Given the description of an element on the screen output the (x, y) to click on. 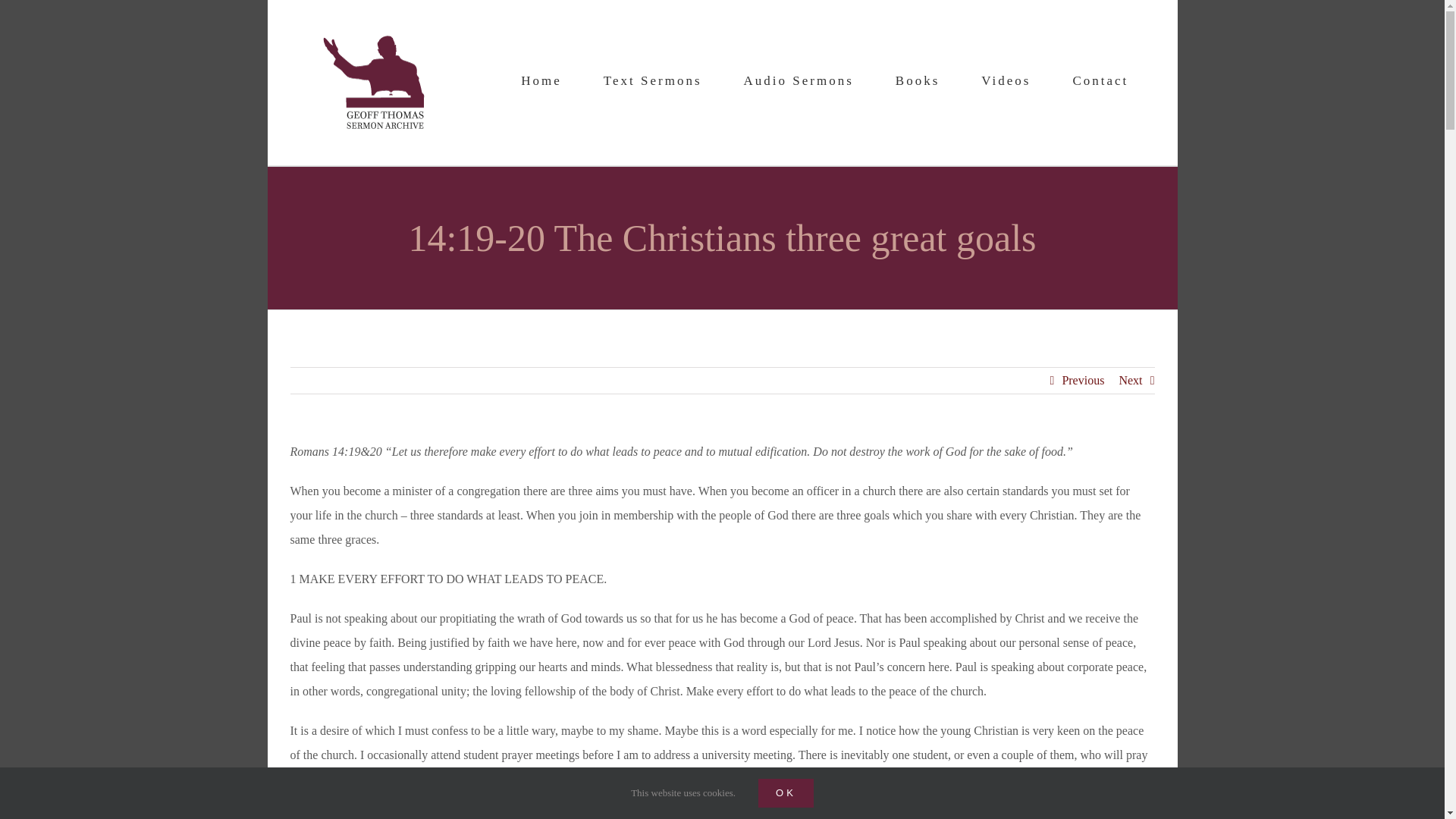
Next (1129, 380)
Previous (1082, 380)
Home (541, 81)
OK (785, 792)
Books (917, 81)
Text Sermons (652, 81)
Videos (1005, 81)
Audio Sermons (798, 81)
Contact (1099, 81)
